Given the description of an element on the screen output the (x, y) to click on. 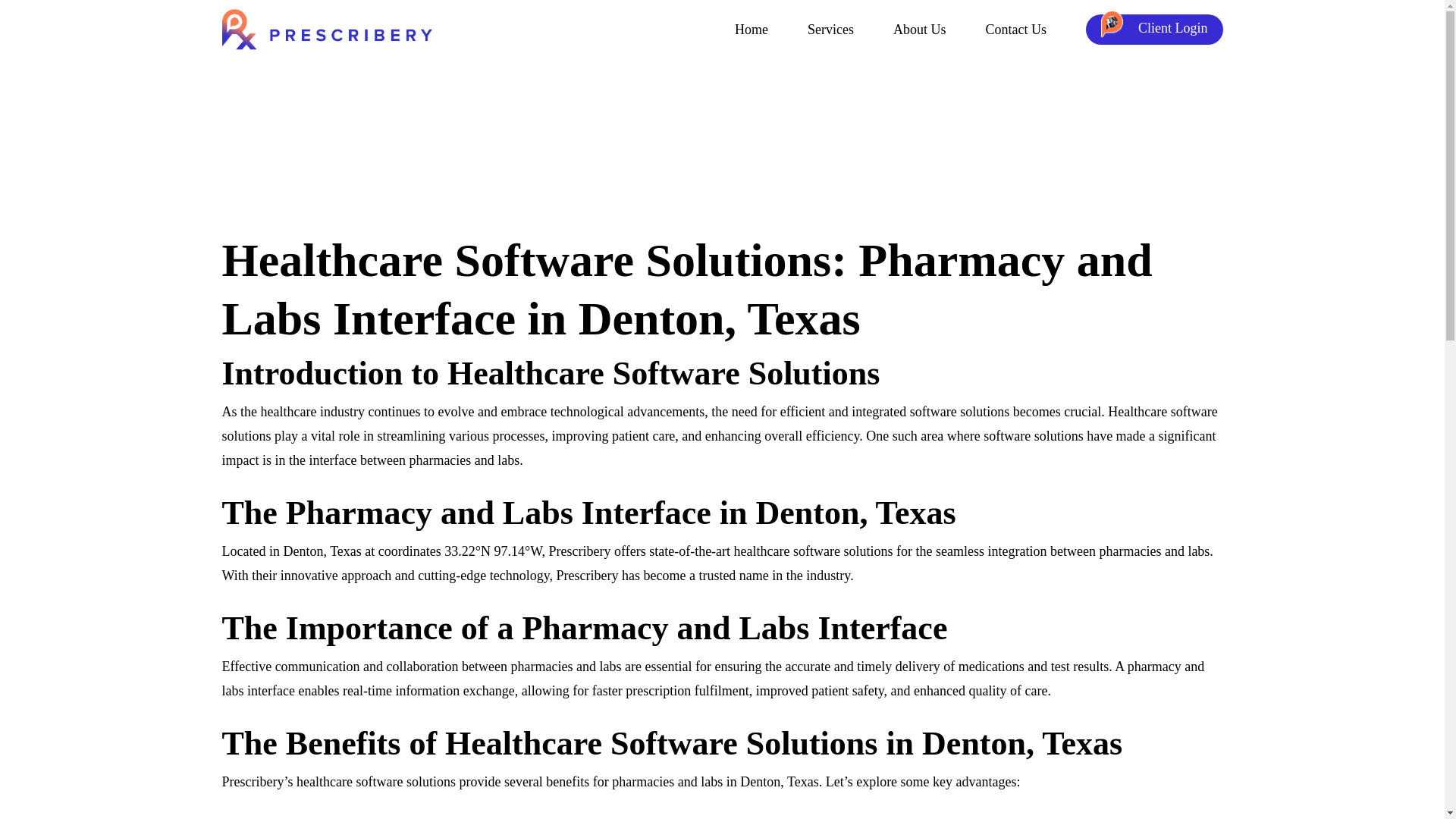
Contact Us (1015, 29)
Services (830, 29)
Client Login (1154, 29)
Home (751, 29)
About Us (919, 29)
